Given the description of an element on the screen output the (x, y) to click on. 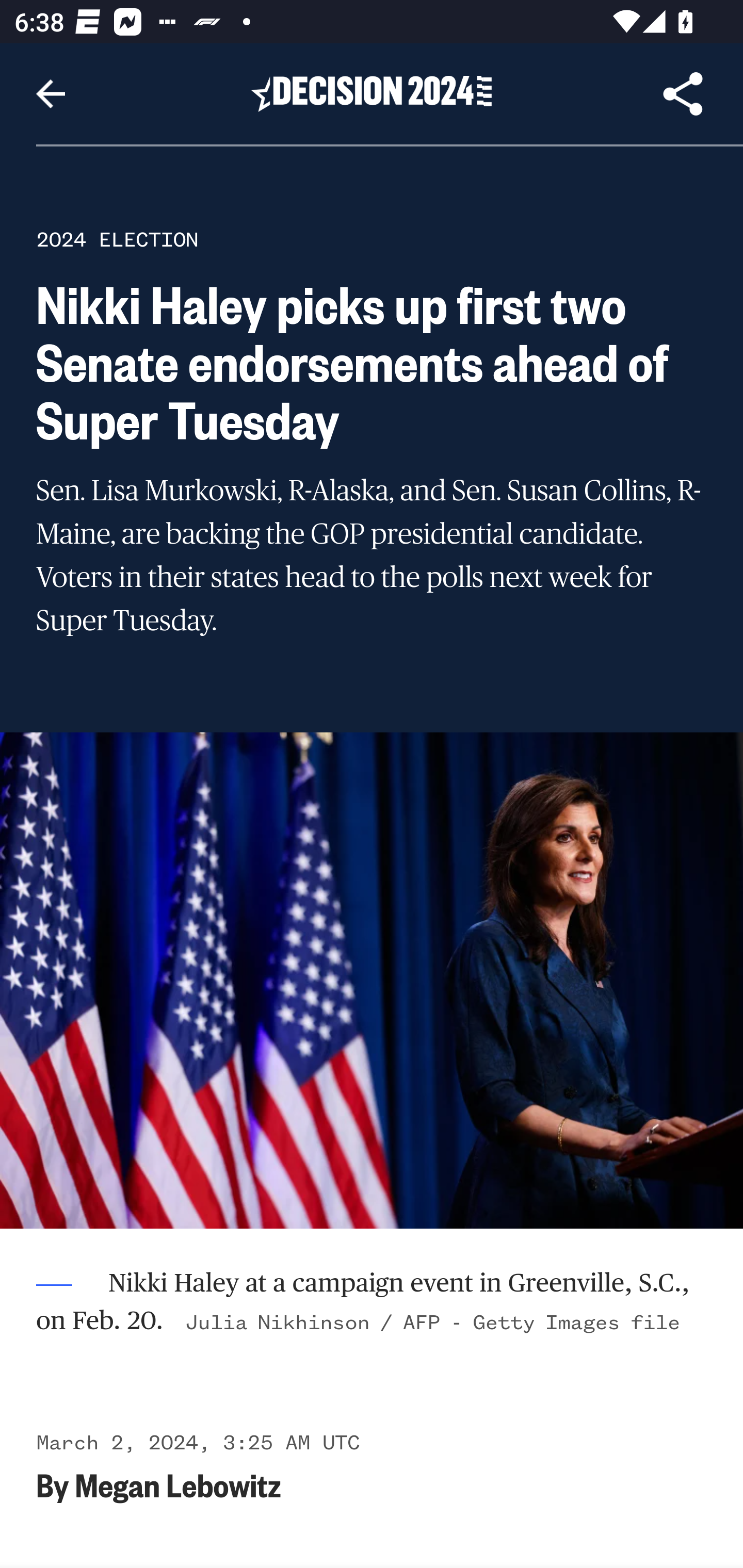
Navigate up (50, 93)
Share Article, button (683, 94)
Header, Decision 2024 (371, 93)
2024 ELECTION (117, 239)
